Given the description of an element on the screen output the (x, y) to click on. 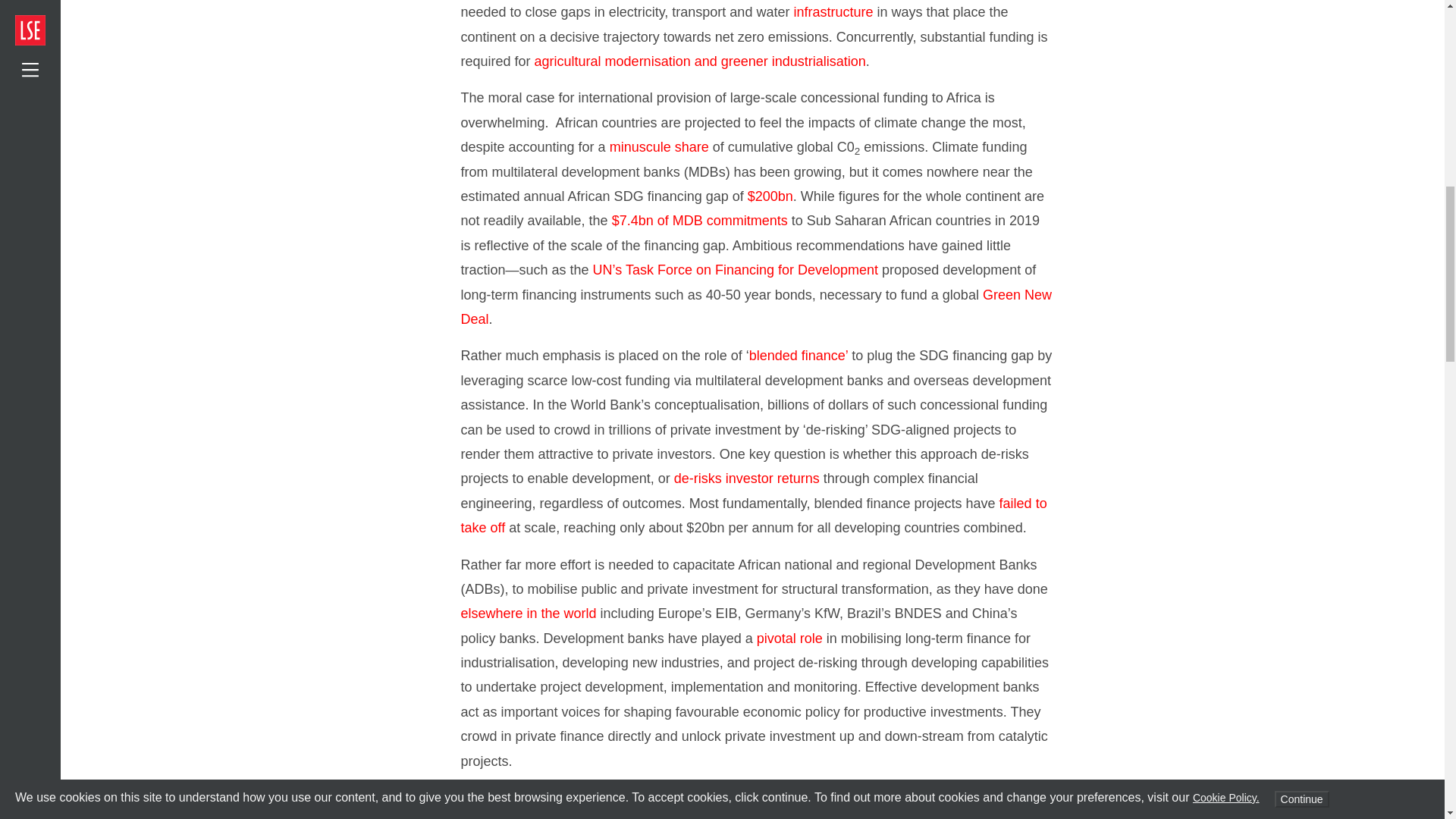
pivotal role (789, 638)
handful dominate (772, 816)
de-risks investor returns (746, 478)
minuscule share (659, 146)
elsewhere in the world (528, 613)
failed to take off (753, 515)
agricultural modernisation and greener industrialisation (700, 61)
infrastructure (832, 11)
lot of development banks (652, 797)
Green New Deal (756, 306)
